Given the description of an element on the screen output the (x, y) to click on. 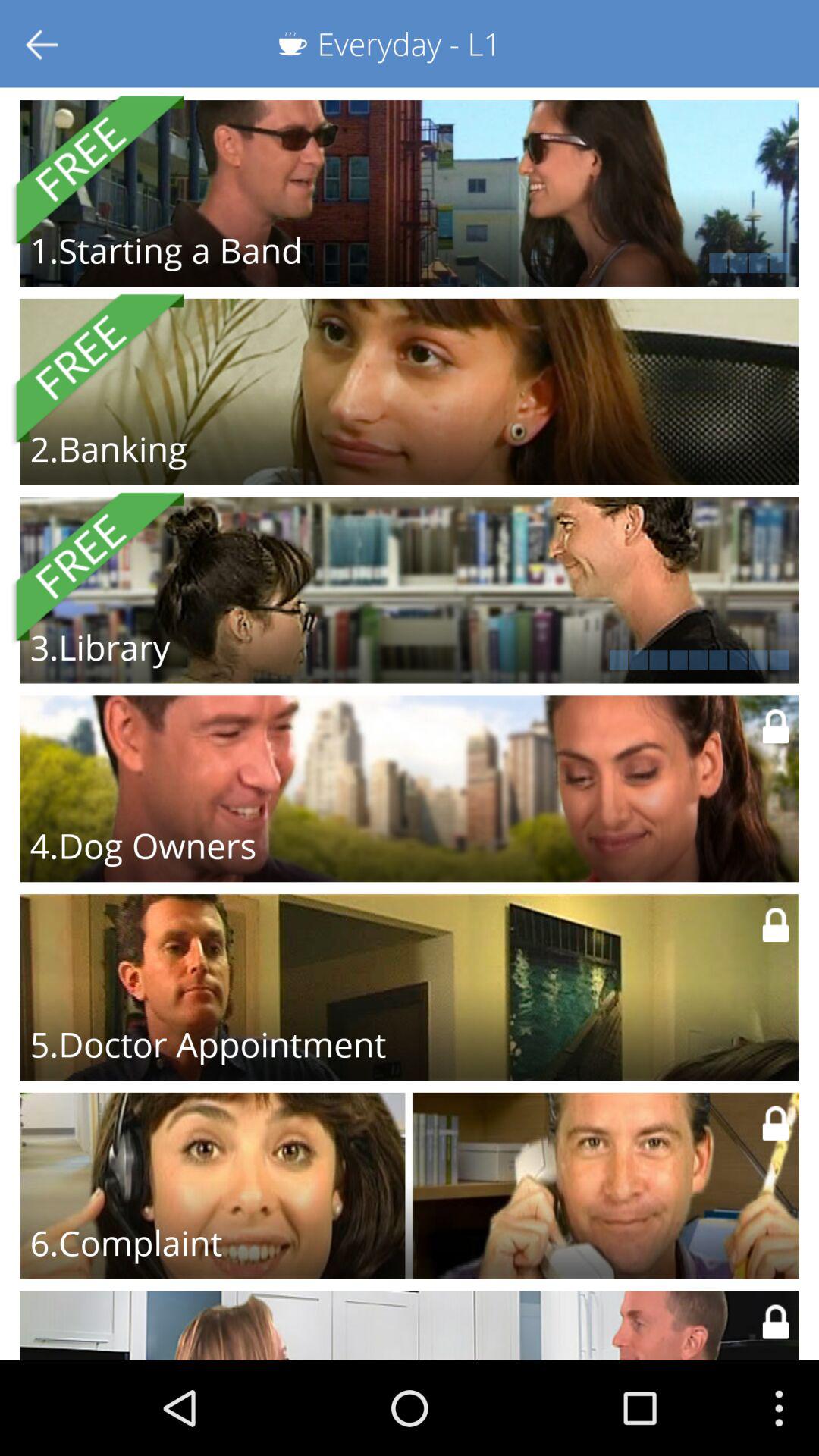
press the 5.doctor appointment (208, 1043)
